Given the description of an element on the screen output the (x, y) to click on. 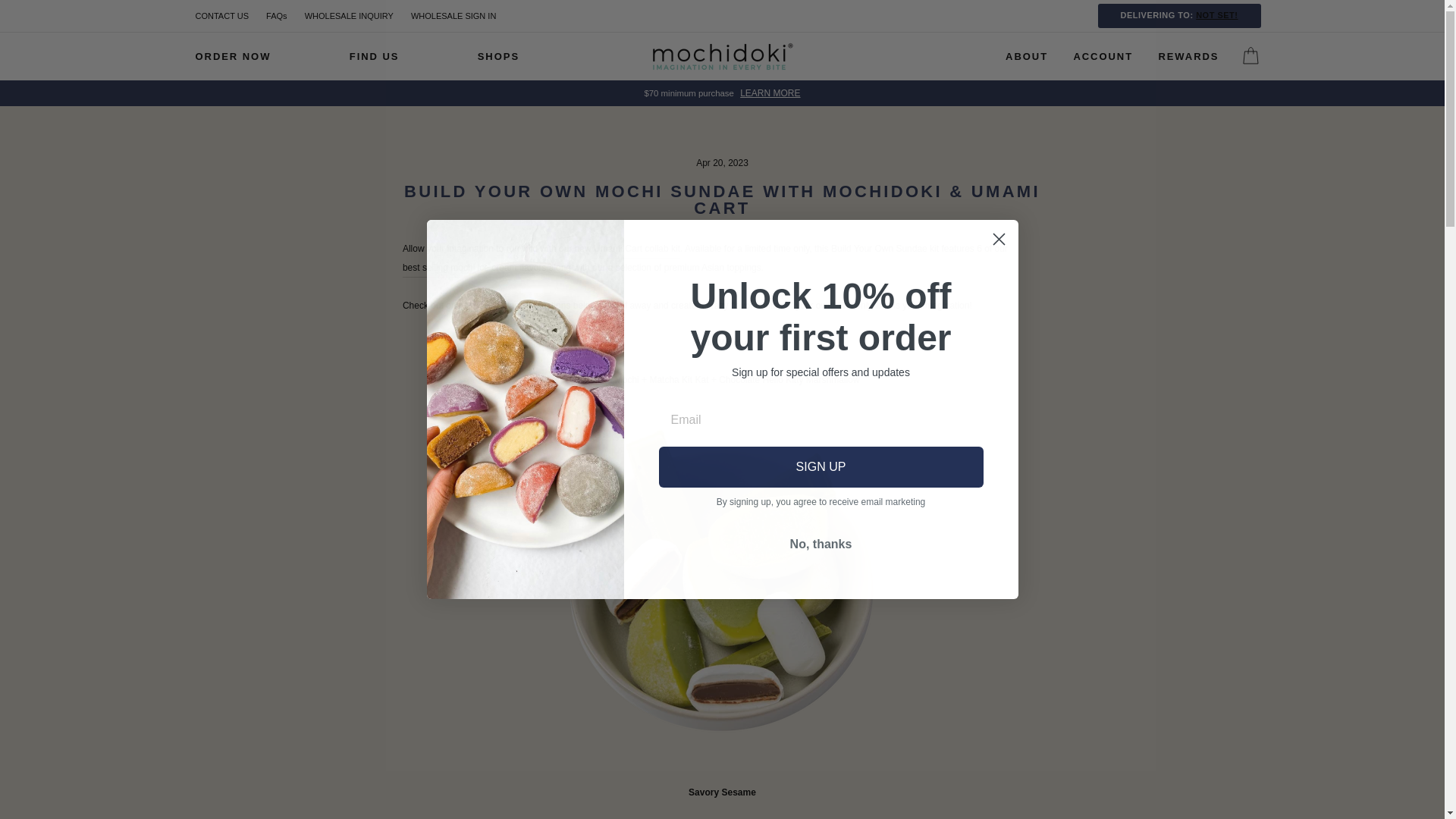
WHOLESALE SIGN IN (453, 15)
Mochidoki Umami Cart Build Your Own Sundae Kit (636, 248)
CONTACT US (222, 15)
NOT SET! (1216, 14)
Mochidoki Mochi Ice Cream Flavors (474, 267)
WHOLESALE INQUIRY (349, 15)
FAQs (277, 15)
ORDER NOW (232, 55)
